Given the description of an element on the screen output the (x, y) to click on. 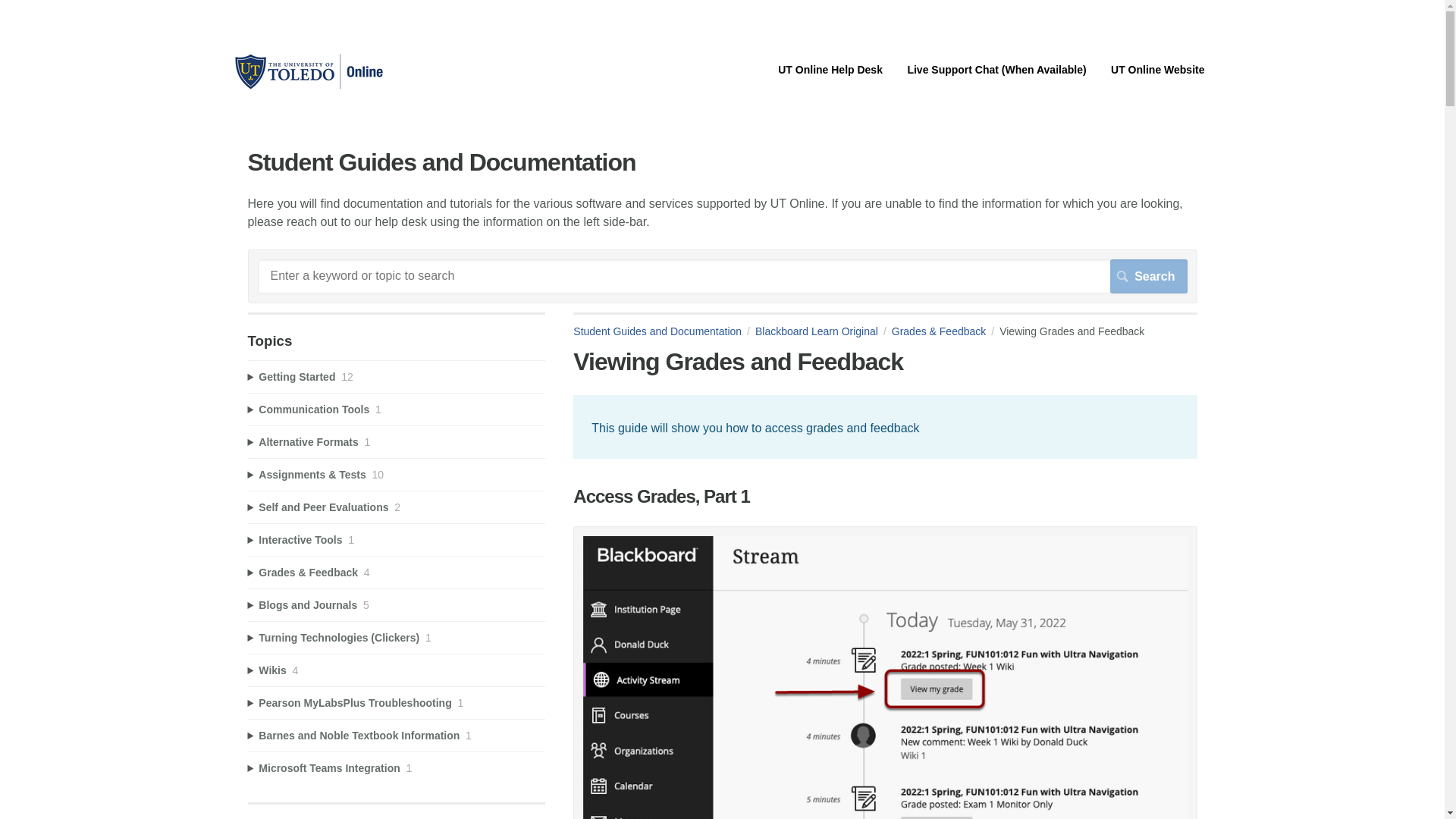
UT Online Help Desk (829, 69)
Search (1147, 275)
Student Guides and Documentation (664, 331)
UT Online Website (1157, 69)
Search (1147, 275)
Blackboard Learn Original (823, 331)
Search (1147, 275)
Student Guides and Documentation (308, 89)
